Given the description of an element on the screen output the (x, y) to click on. 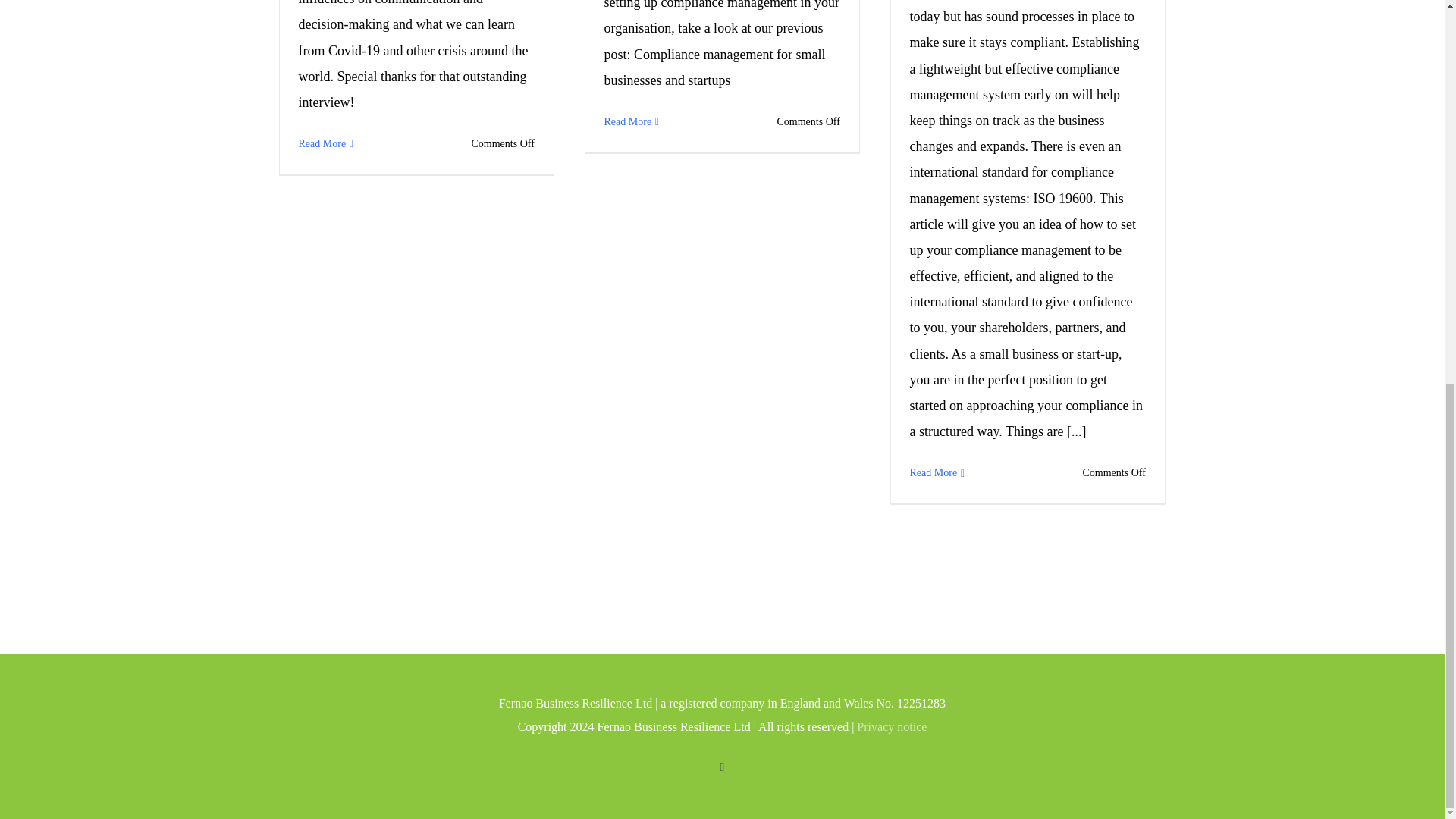
Read More (322, 144)
